Given the description of an element on the screen output the (x, y) to click on. 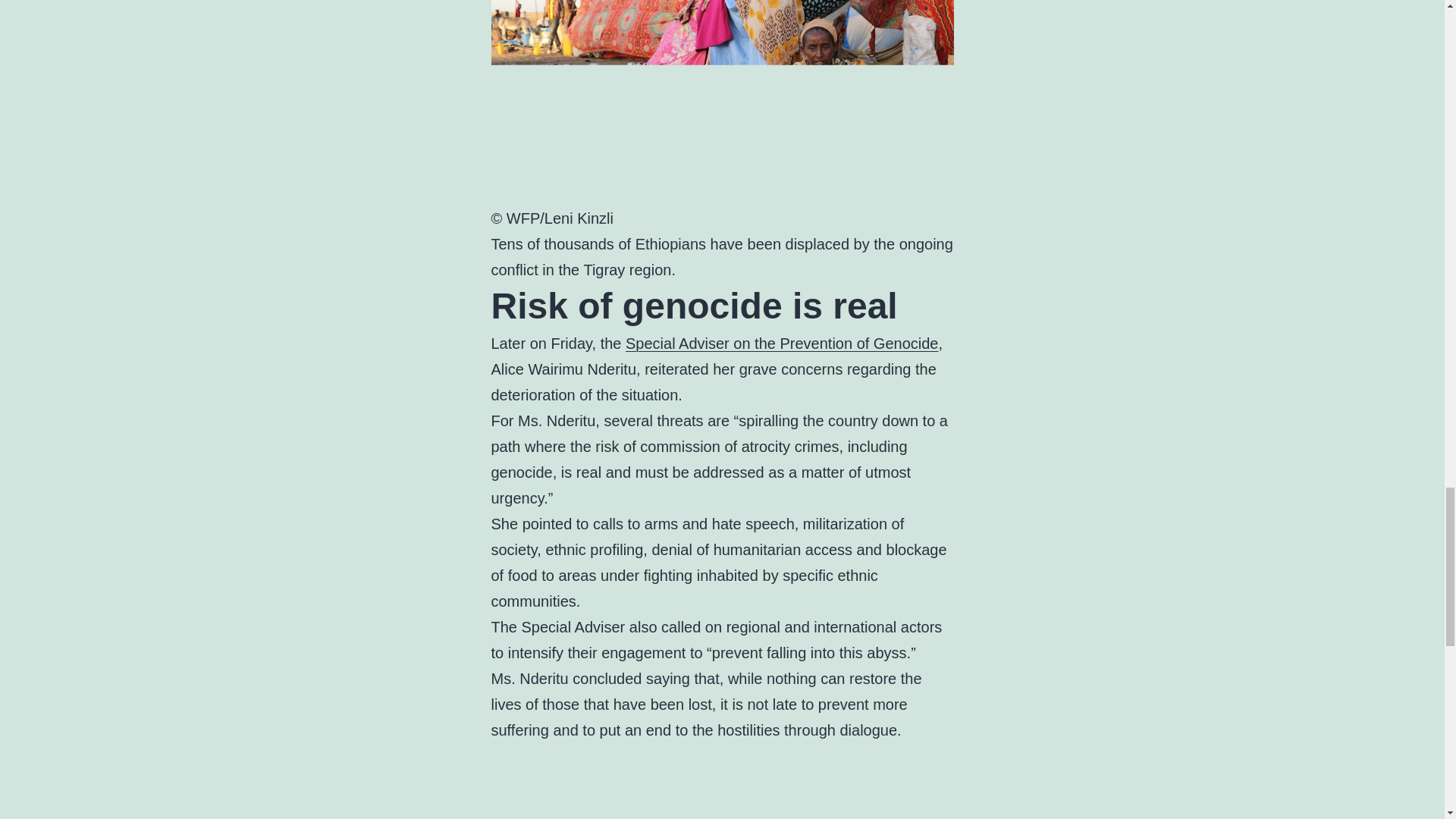
Special Adviser on the Prevention of Genocide (781, 343)
